Given the description of an element on the screen output the (x, y) to click on. 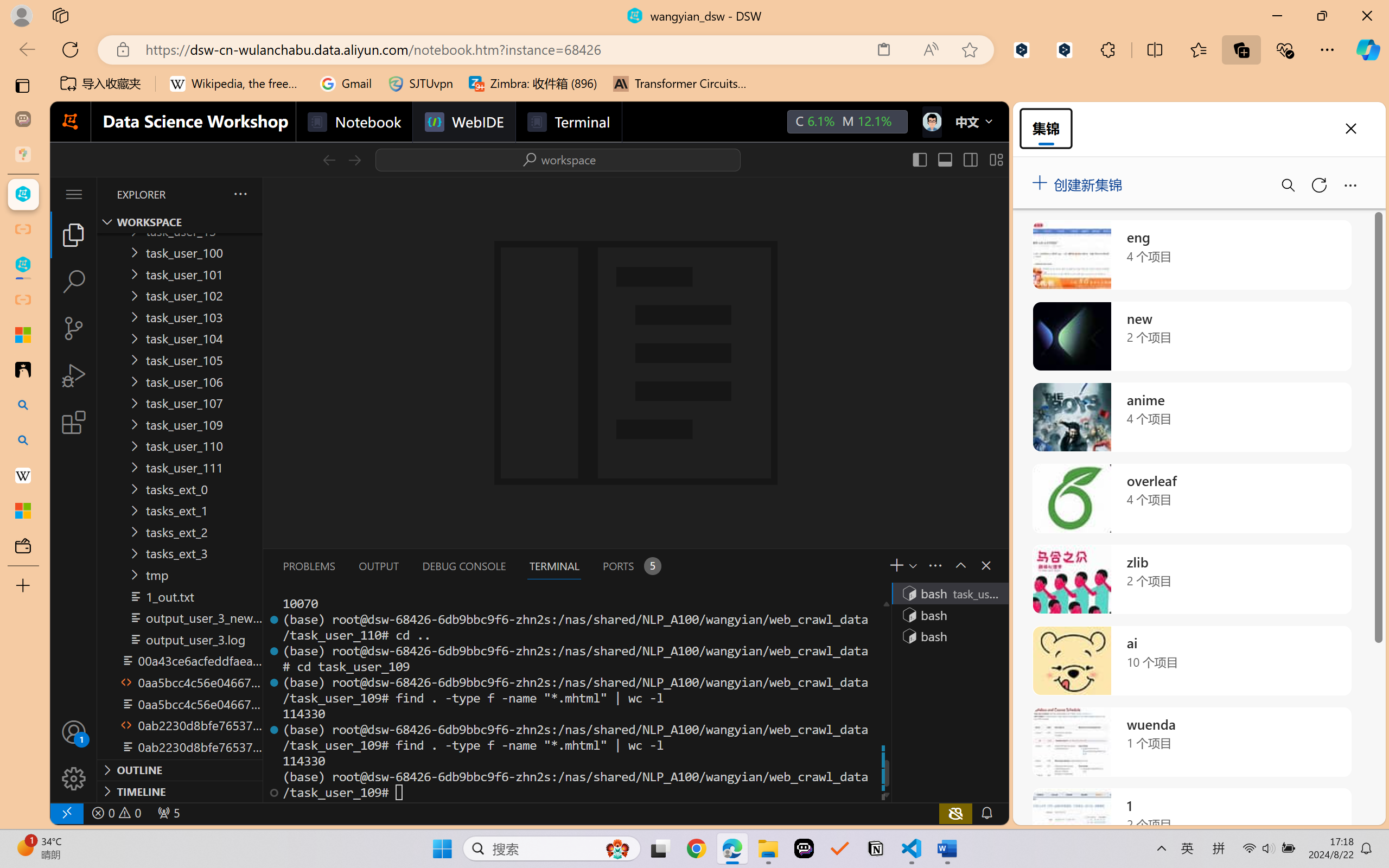
Class: xterm-link-layer (574, 697)
Application Menu (73, 194)
Accounts - Sign in requested (73, 732)
Title actions (957, 159)
Class: next-menu next-hoz widgets--iconMenu--BFkiHRM (930, 121)
Search (Ctrl+Shift+F) (73, 281)
Terminal 2 bash (949, 614)
copilot-notconnected, Copilot error (click for details) (955, 812)
Problems (Ctrl+Shift+M) (308, 565)
Notebook (353, 121)
